Given the description of an element on the screen output the (x, y) to click on. 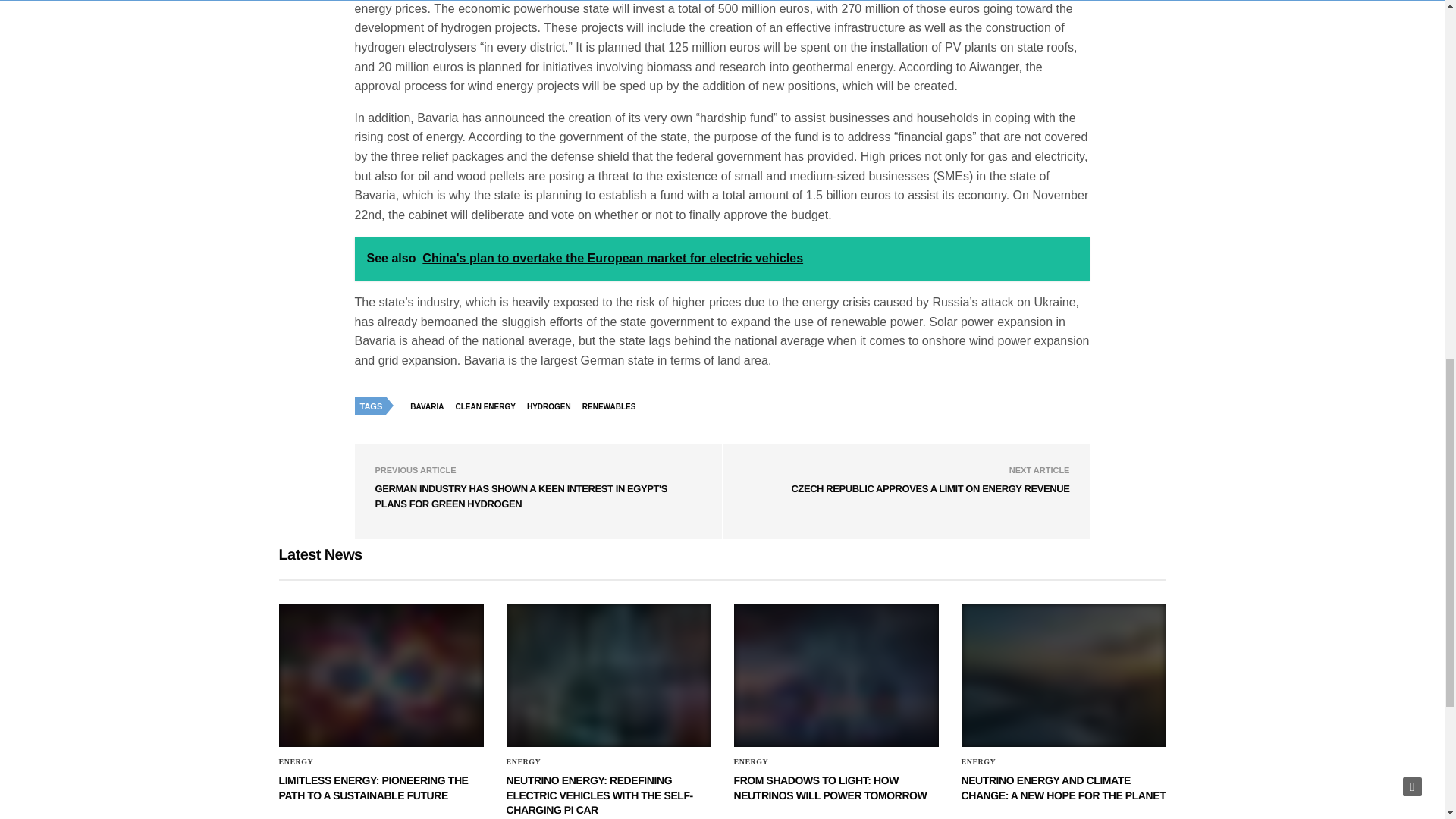
ENERGY (296, 761)
ENERGY (523, 761)
ENERGY (523, 761)
ENERGY (977, 761)
